Given the description of an element on the screen output the (x, y) to click on. 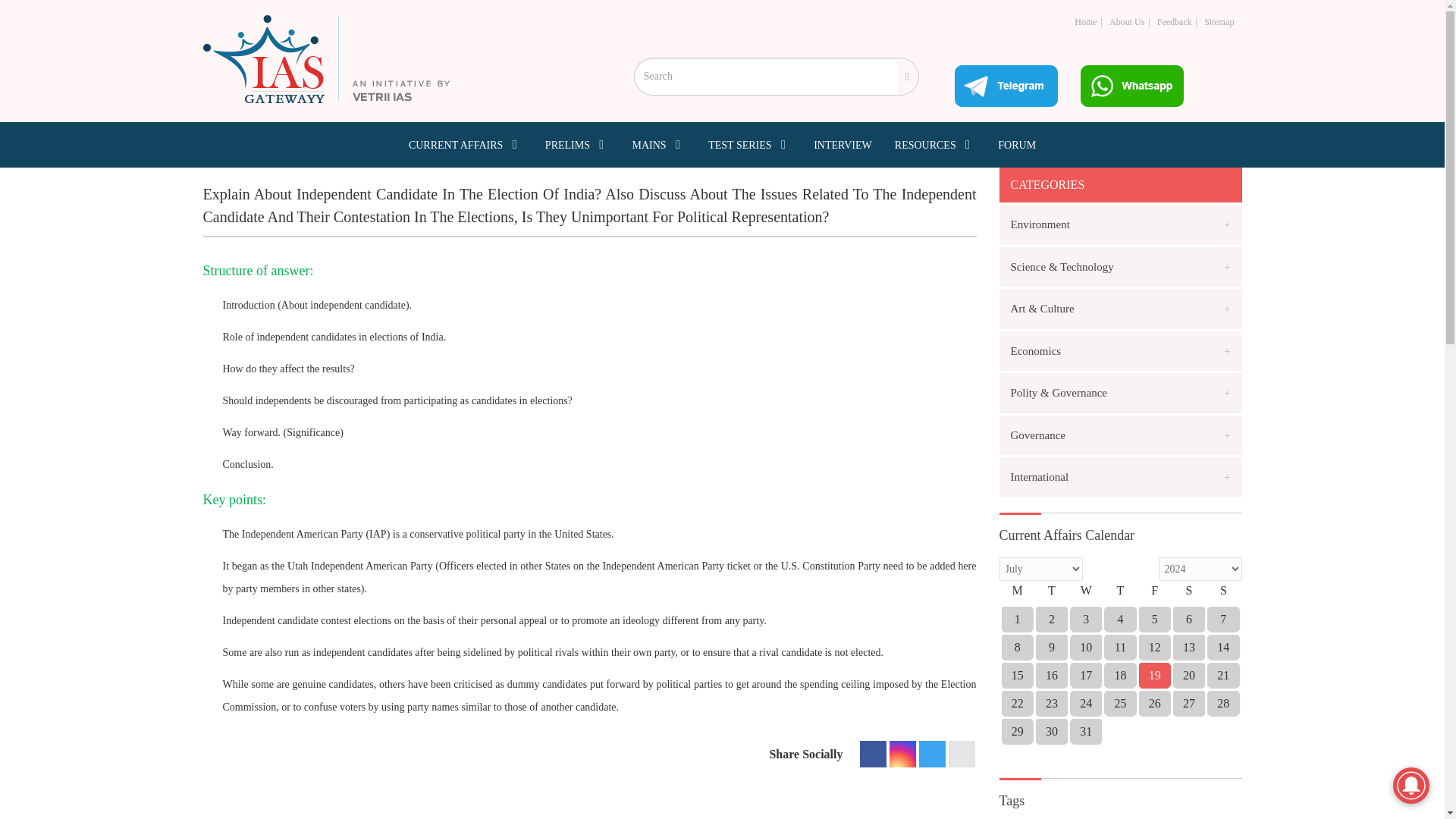
About Us (1126, 21)
PRELIMS (577, 144)
International (1119, 477)
Sitemap (1218, 21)
IAS Gatewayy (326, 59)
Wednesday (1085, 594)
CURRENT AFFAIRS (465, 144)
Monday (1016, 594)
Instagram (901, 754)
Environment (1119, 224)
TEST SERIES (748, 144)
Facebook (873, 754)
Google Gmail (960, 754)
Feedback (1174, 21)
MAINS (658, 144)
